Given the description of an element on the screen output the (x, y) to click on. 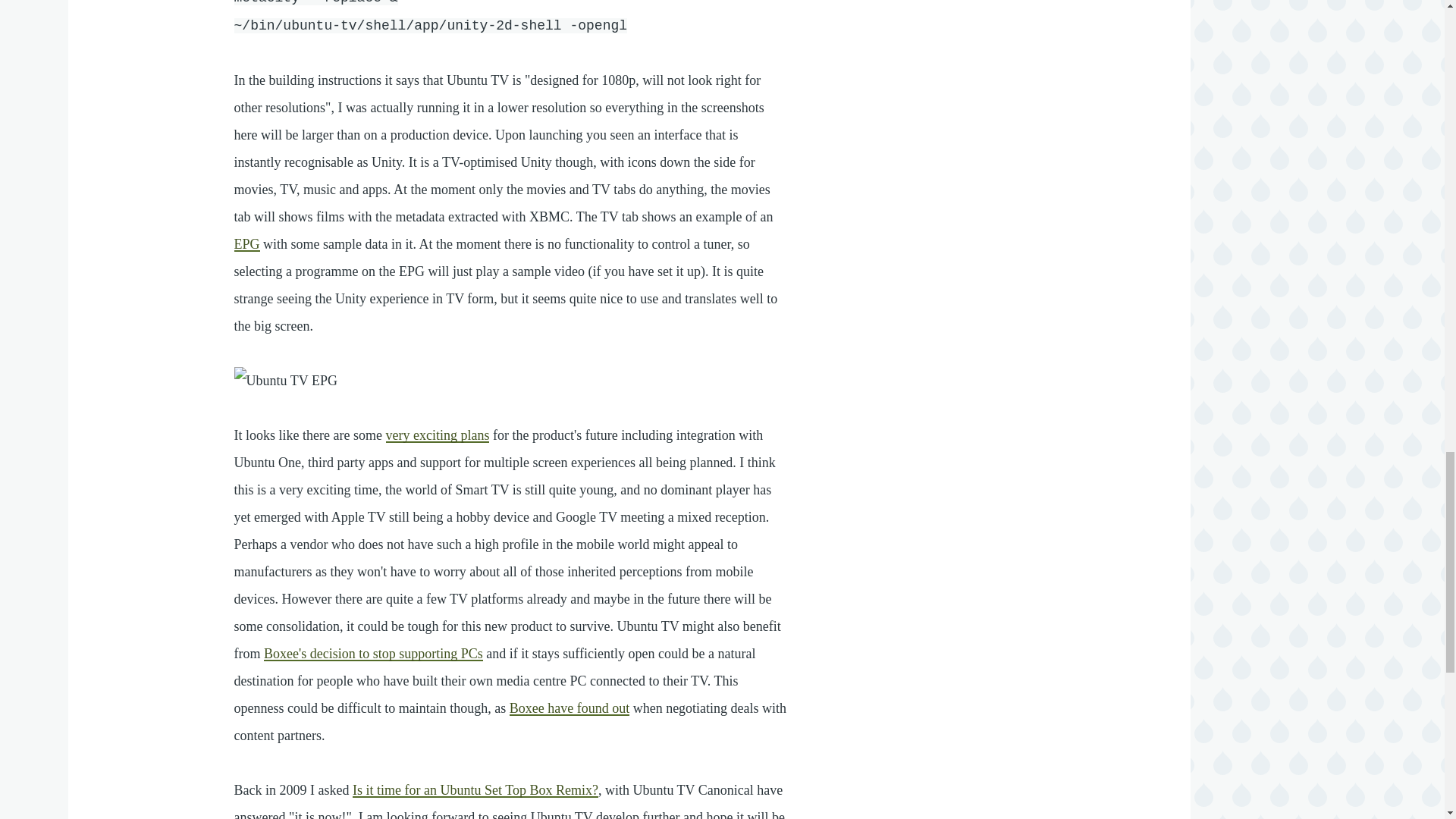
Boxee have found out (568, 708)
very exciting plans (437, 435)
Boxee's decision to stop supporting PCs (373, 653)
EPG (247, 243)
Is it time for an Ubuntu Set Top Box Remix? (475, 789)
